Given the description of an element on the screen output the (x, y) to click on. 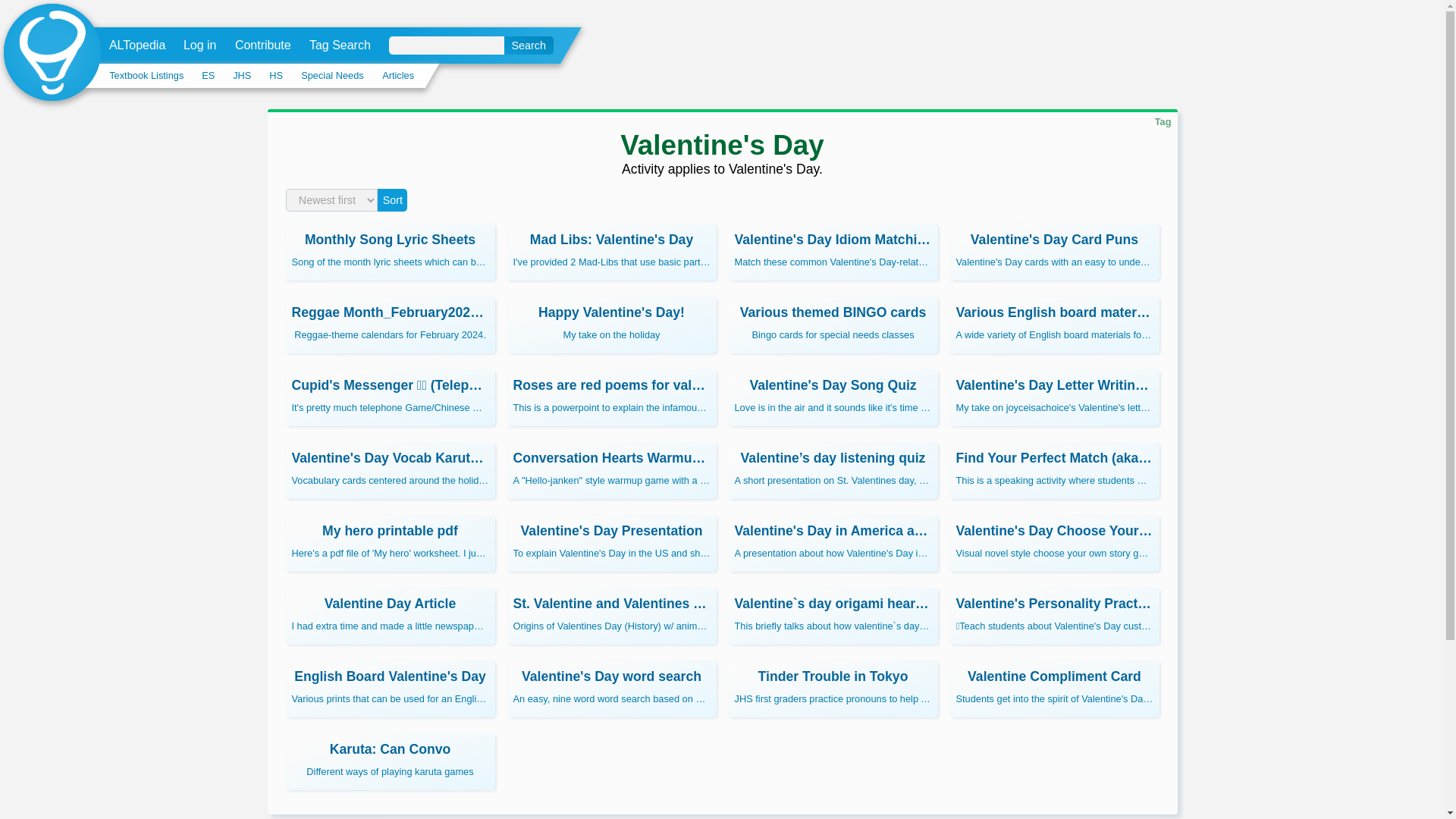
Bingo cards for special needs classes (832, 324)
Contribute (262, 45)
Search (528, 45)
Search (390, 324)
